Given the description of an element on the screen output the (x, y) to click on. 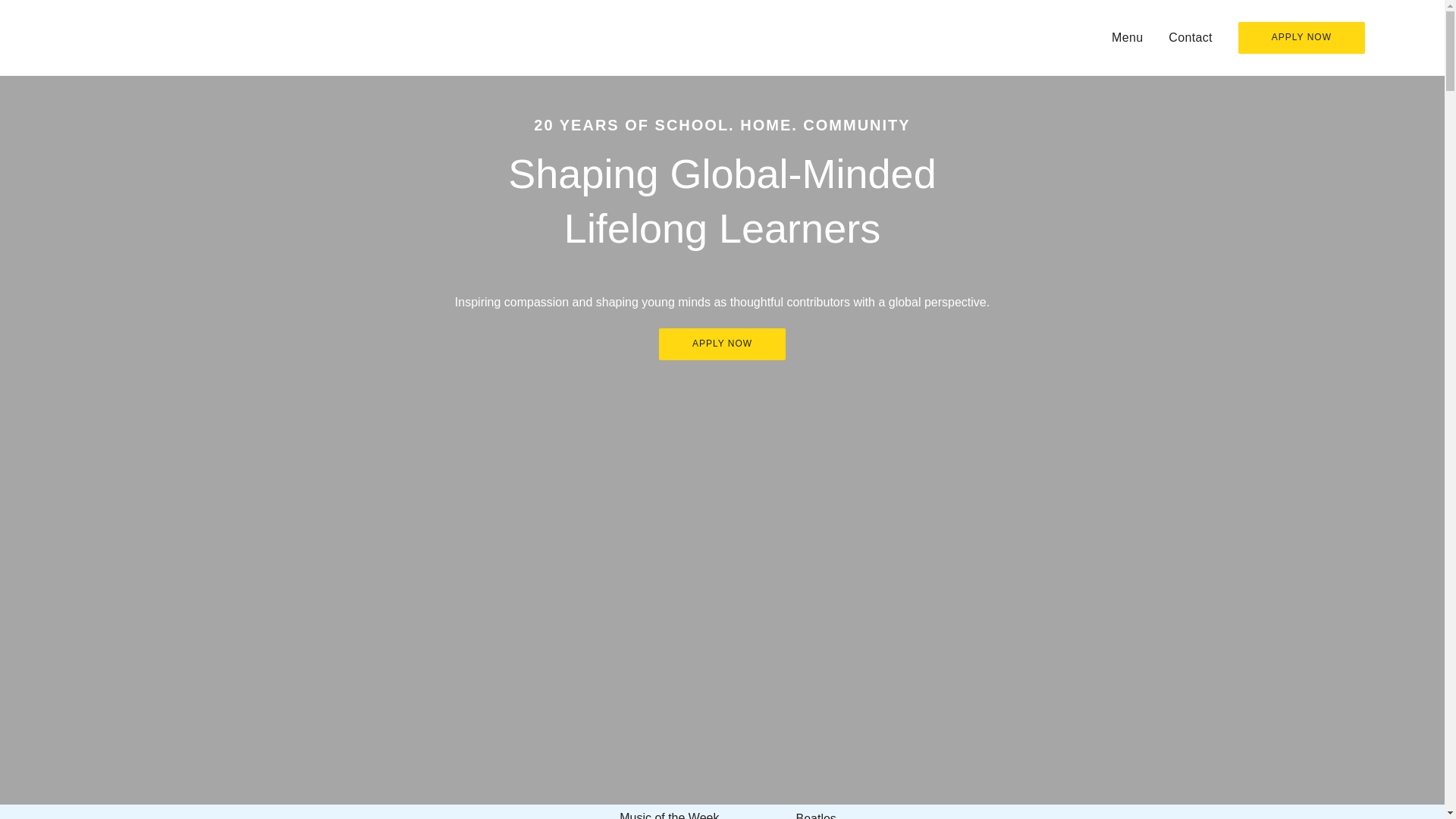
APPLY NOW Element type: text (1301, 37)
APPLY NOW Element type: text (721, 344)
Contact Element type: text (1189, 37)
Menu Element type: text (1126, 37)
